Given the description of an element on the screen output the (x, y) to click on. 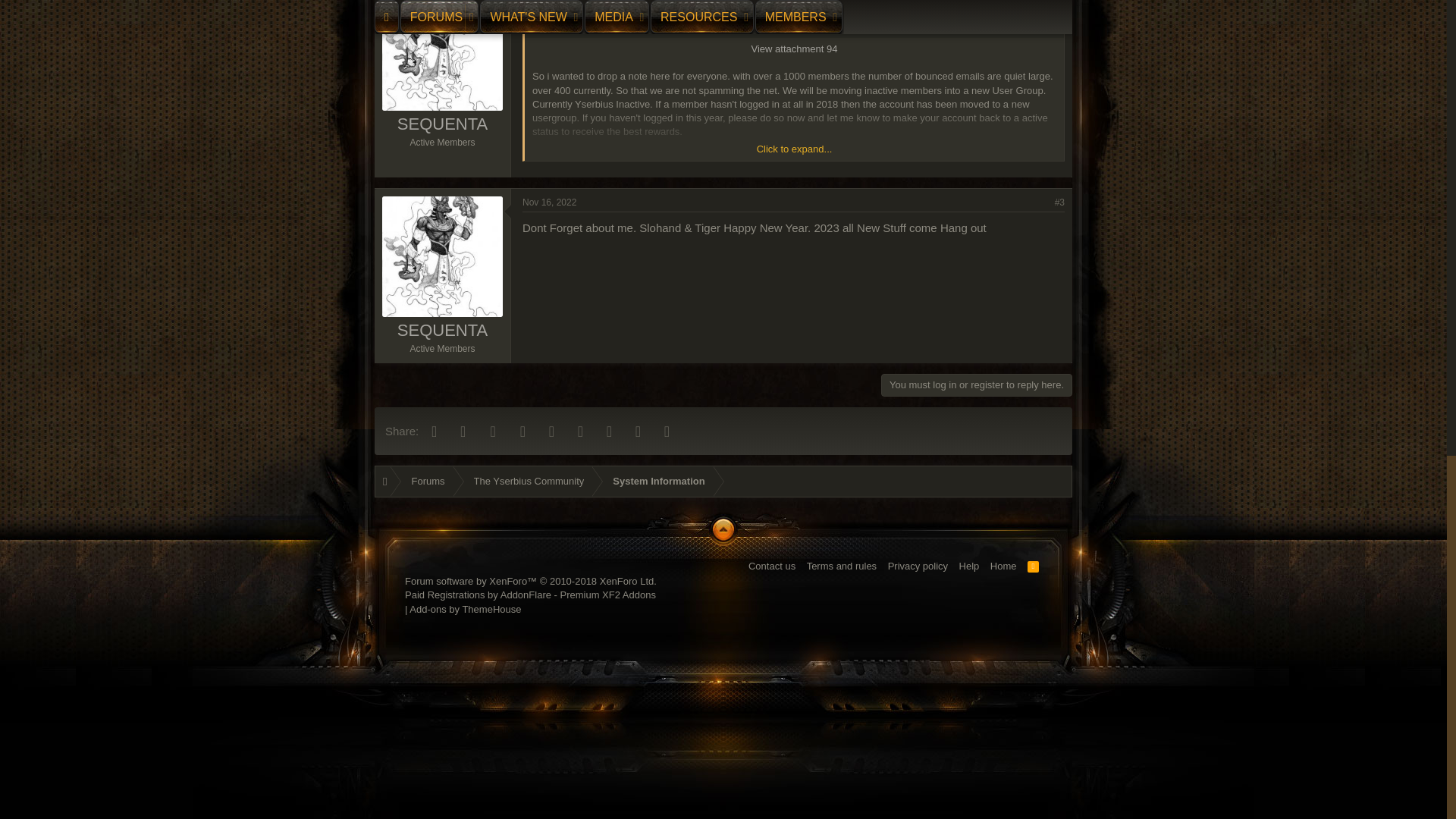
RSS (1033, 565)
Nov 16, 2022 at 1:00 PM (549, 202)
Nov 16, 2022 at 12:57 PM (549, 0)
